Given the description of an element on the screen output the (x, y) to click on. 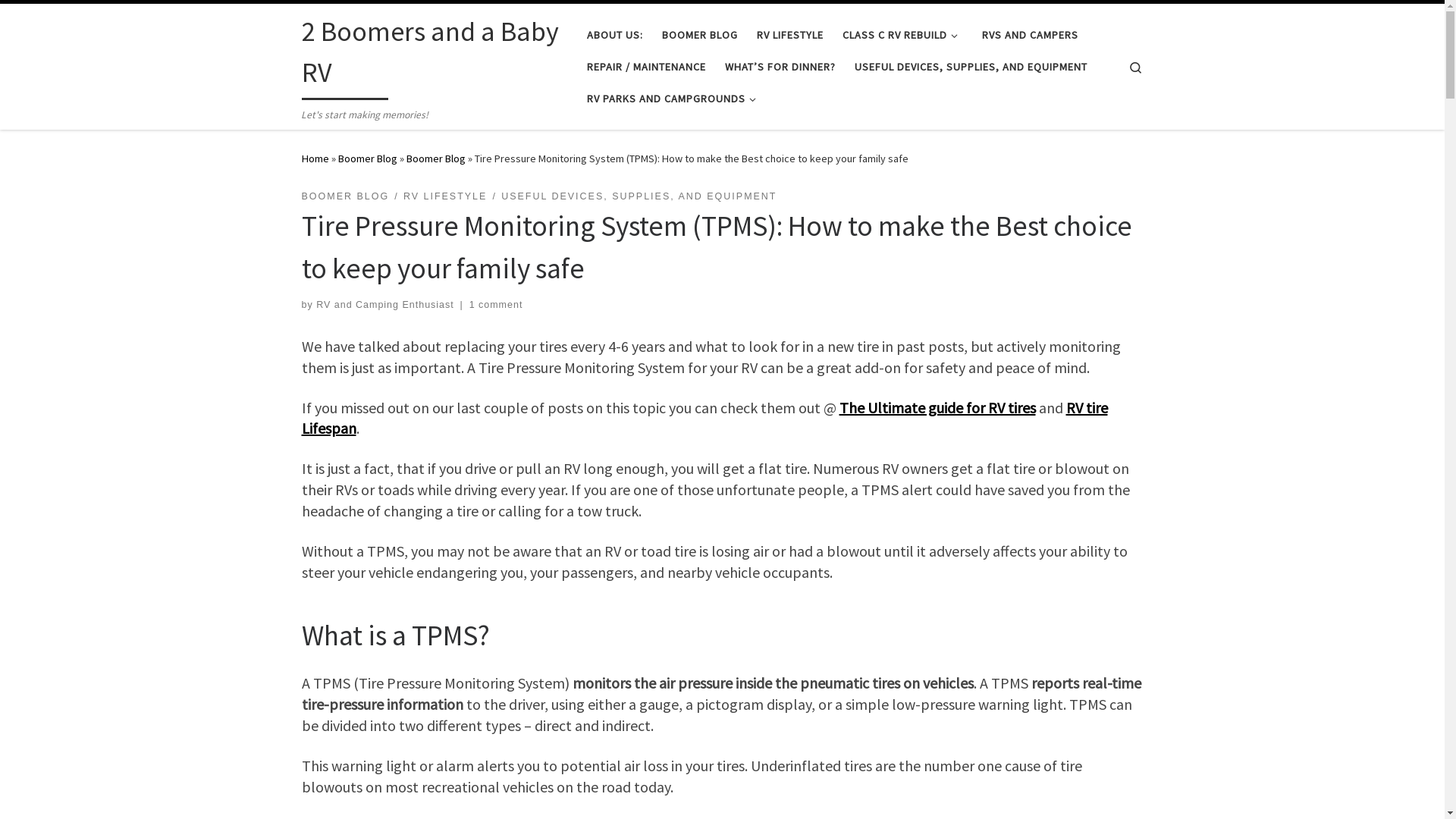
2 Boomers and a Baby RV Element type: text (432, 55)
RV and Camping Enthusiast Element type: text (385, 304)
RV LIFESTYLE Element type: text (789, 34)
USEFUL DEVICES, SUPPLIES, AND EQUIPMENT Element type: text (970, 66)
RVS AND CAMPERS Element type: text (1030, 34)
USEFUL DEVICES, SUPPLIES, AND EQUIPMENT Element type: text (638, 196)
BOOMER BLOG Element type: text (345, 196)
Home Element type: text (315, 158)
Boomer Blog Element type: text (435, 158)
1 comment Element type: text (496, 304)
Boomer Blog Element type: text (367, 158)
RV LIFESTYLE Element type: text (445, 196)
RV tire Lifespan Element type: text (704, 417)
ABOUT US: Element type: text (614, 34)
REPAIR / MAINTENANCE Element type: text (645, 66)
Skip to content Element type: text (57, 21)
CLASS C RV REBUILD Element type: text (902, 34)
The Ultimate guide for RV tires Element type: text (936, 406)
RV PARKS AND CAMPGROUNDS Element type: text (673, 98)
Search Element type: text (1135, 66)
BOOMER BLOG Element type: text (699, 34)
